Given the description of an element on the screen output the (x, y) to click on. 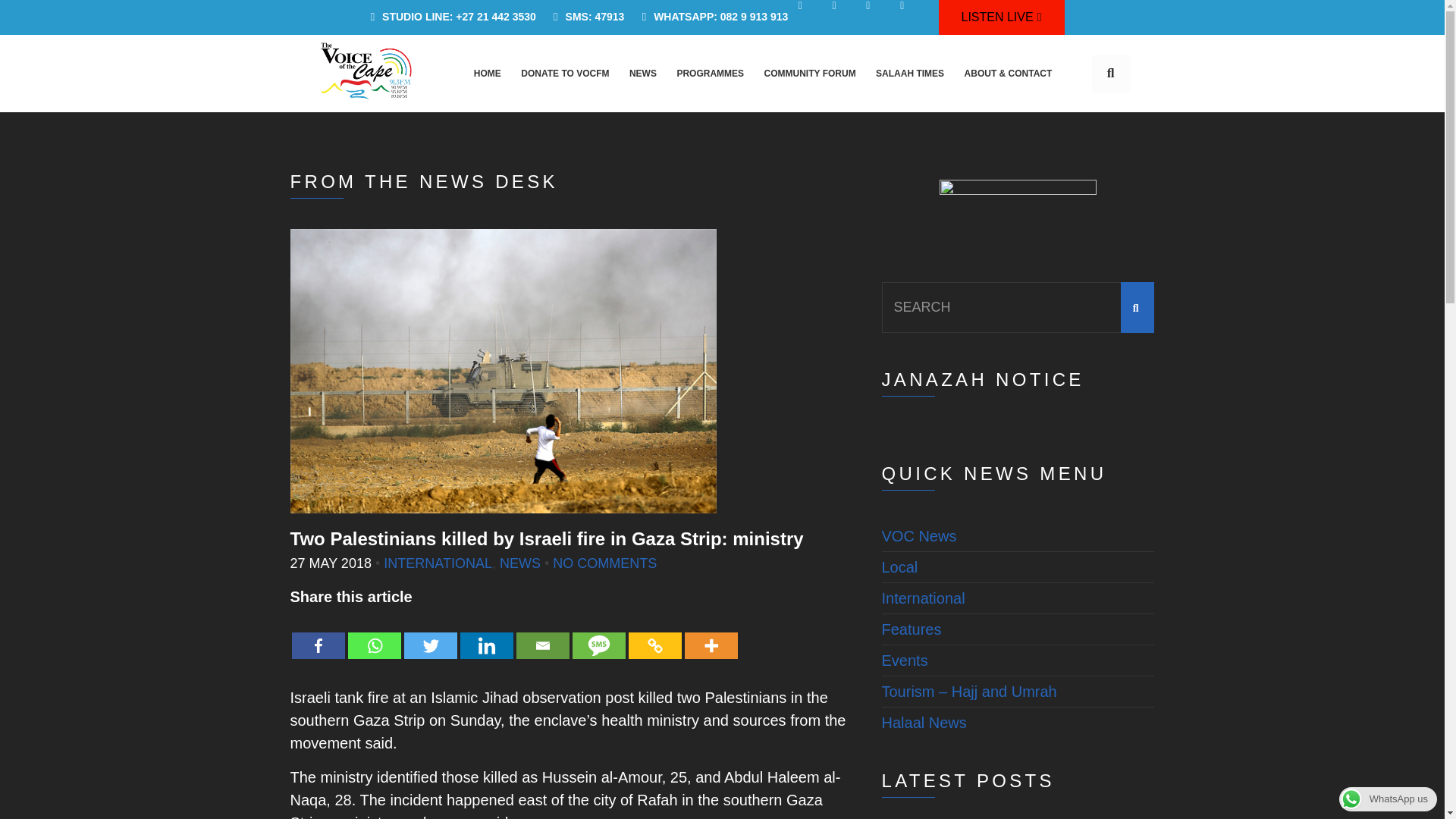
More (710, 634)
PROGRAMMES (709, 73)
Whatsapp (373, 634)
HOME (486, 73)
Twitter (430, 634)
Email (542, 634)
NEWS (642, 73)
LISTEN LIVE (1001, 17)
WHATSAPP: 082 9 913 913 (709, 17)
Facebook (317, 634)
Copy Link (654, 634)
DONATE TO VOCFM (565, 73)
Linkedin (486, 634)
SMS (598, 634)
COMMUNITY FORUM (809, 73)
